Given the description of an element on the screen output the (x, y) to click on. 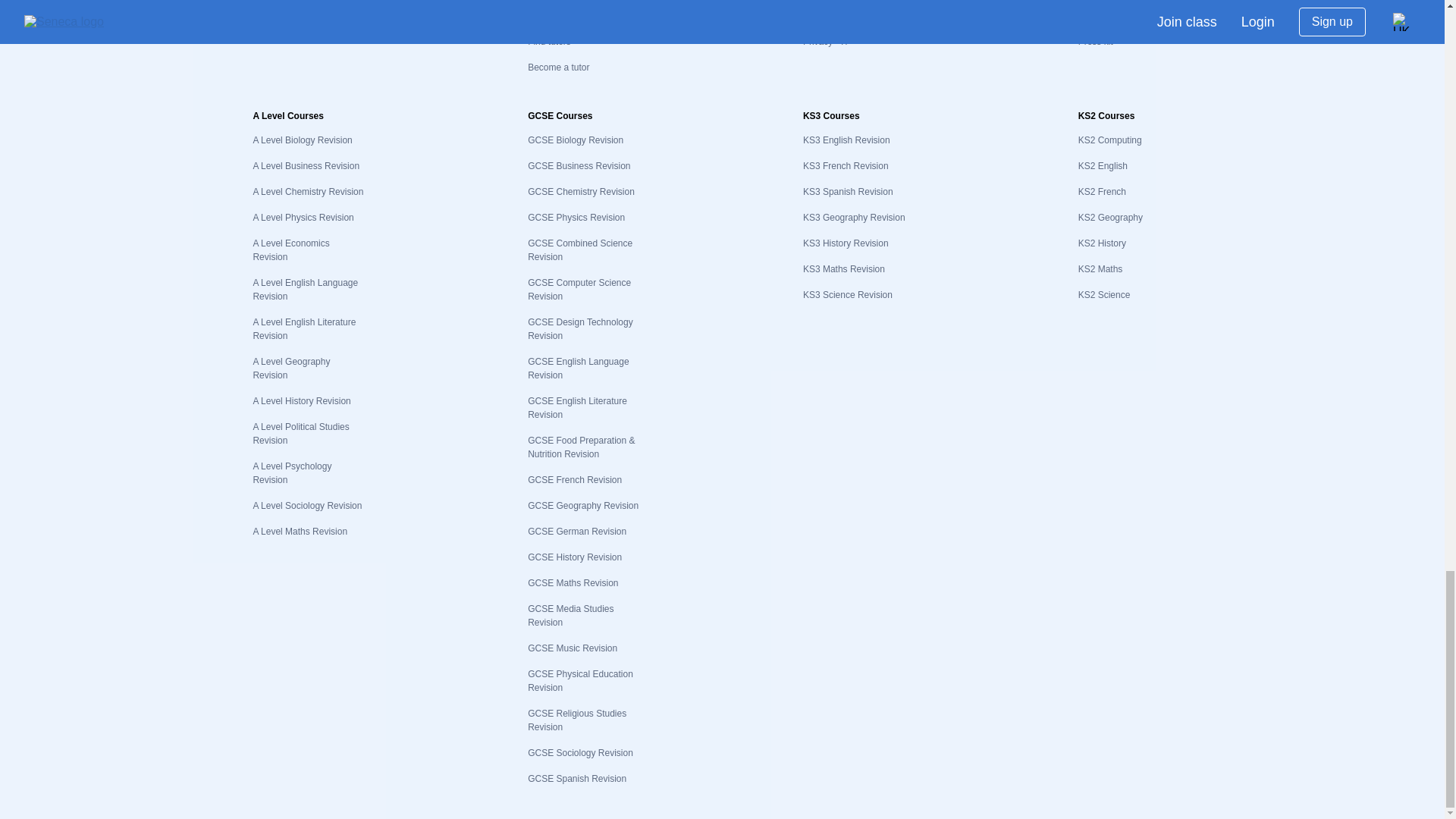
Privacy - IT (825, 41)
Privacy - FR (828, 15)
Evidence Seneca works (300, 15)
Find tutors (548, 41)
Become a tutor (558, 67)
